Given the description of an element on the screen output the (x, y) to click on. 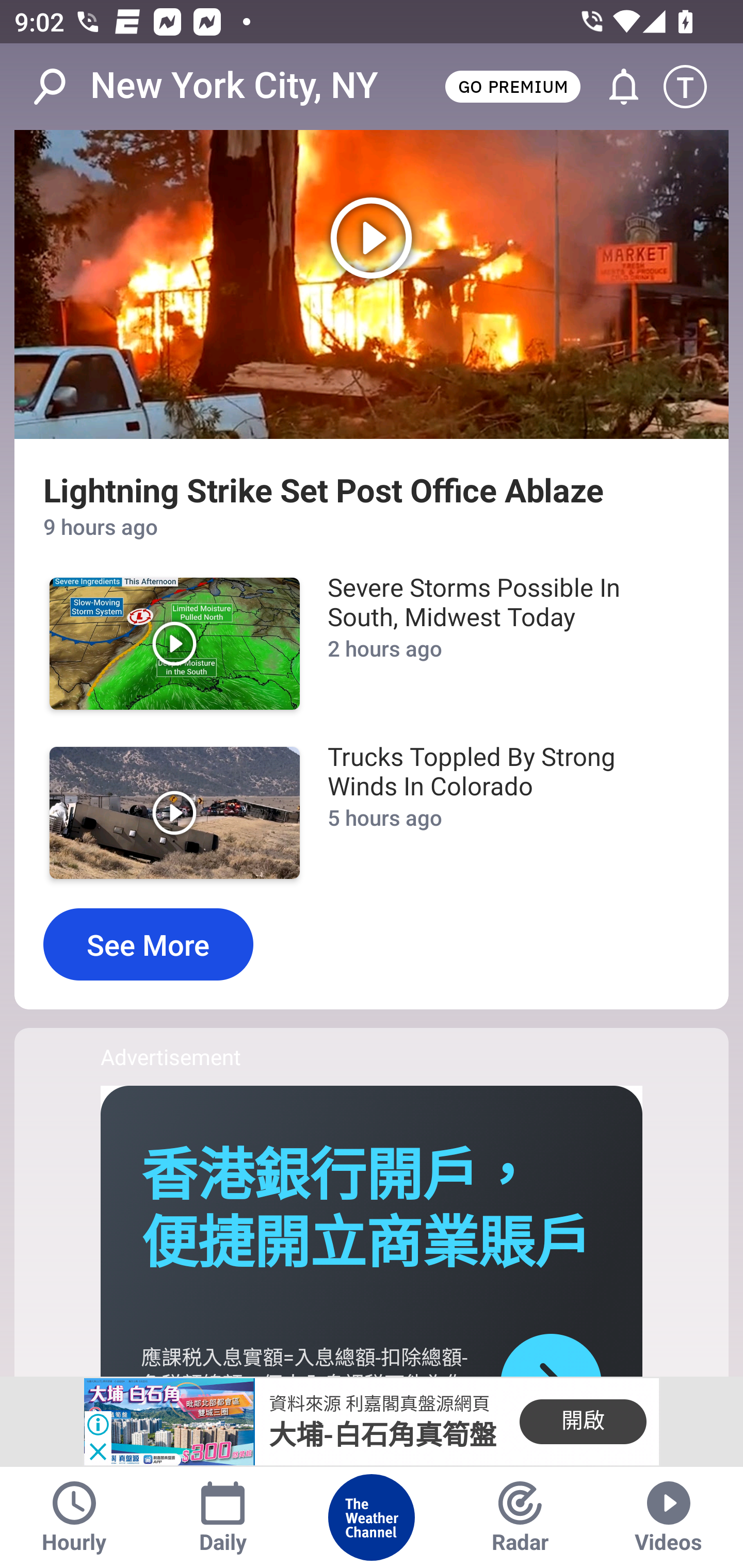
Search (59, 86)
Go to Alerts and Notifications (614, 86)
Setting icon T (694, 86)
New York City, NY (234, 85)
GO PREMIUM (512, 85)
Play (371, 284)
Play (174, 643)
Play (174, 812)
See More (148, 943)
香港銀行開戶， 便捷開立商業賬戶 香港銀行開戶， 便捷開立商業賬戶 (366, 1208)
B30001746 (168, 1421)
資料來源 利嘉閣真盤源網頁 (379, 1403)
開啟 (582, 1421)
大埔-白石角真筍盤 (382, 1434)
Hourly Tab Hourly (74, 1517)
Daily Tab Daily (222, 1517)
Radar Tab Radar (519, 1517)
Videos Tab Videos (668, 1517)
